Given the description of an element on the screen output the (x, y) to click on. 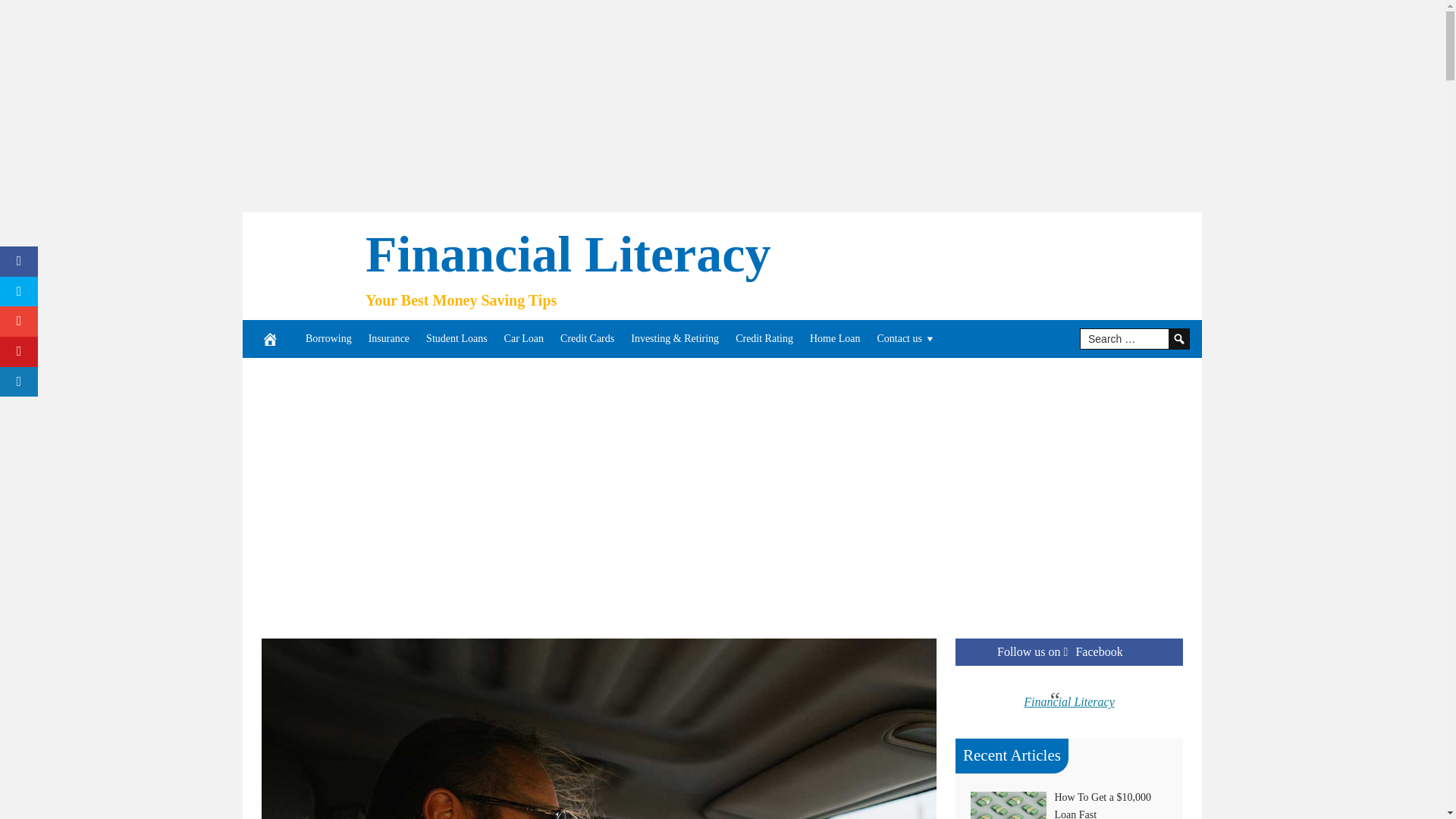
Insurance (388, 338)
Home Loan (834, 338)
Car Loan (523, 338)
Contact us (905, 338)
Student Loans (456, 338)
Credit Cards (587, 338)
Credit Rating (764, 338)
Financial Literacy (567, 253)
Borrowing (328, 338)
